Given the description of an element on the screen output the (x, y) to click on. 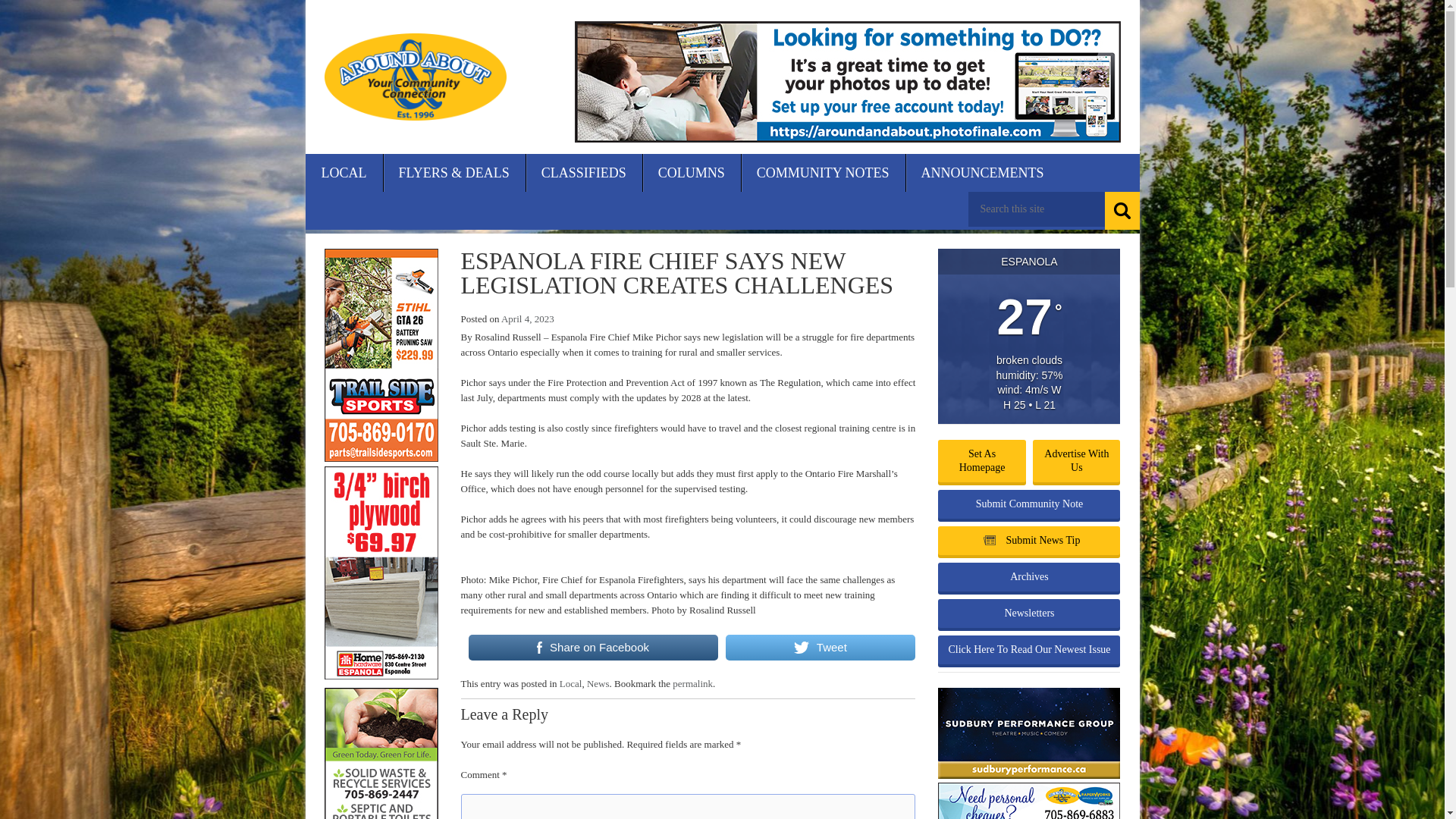
April 4, 2023 (527, 318)
9:26 am (527, 318)
Advertise With Us (1075, 460)
Tweet (820, 647)
COLUMNS (691, 172)
CLASSIFIEDS (583, 172)
Submit News Tip (1028, 540)
Local (570, 683)
Share on Facebook (592, 647)
permalink (692, 683)
ANNOUNCEMENTS (982, 172)
COMMUNITY NOTES (823, 172)
Set As Homepage (981, 460)
News (598, 683)
